Given the description of an element on the screen output the (x, y) to click on. 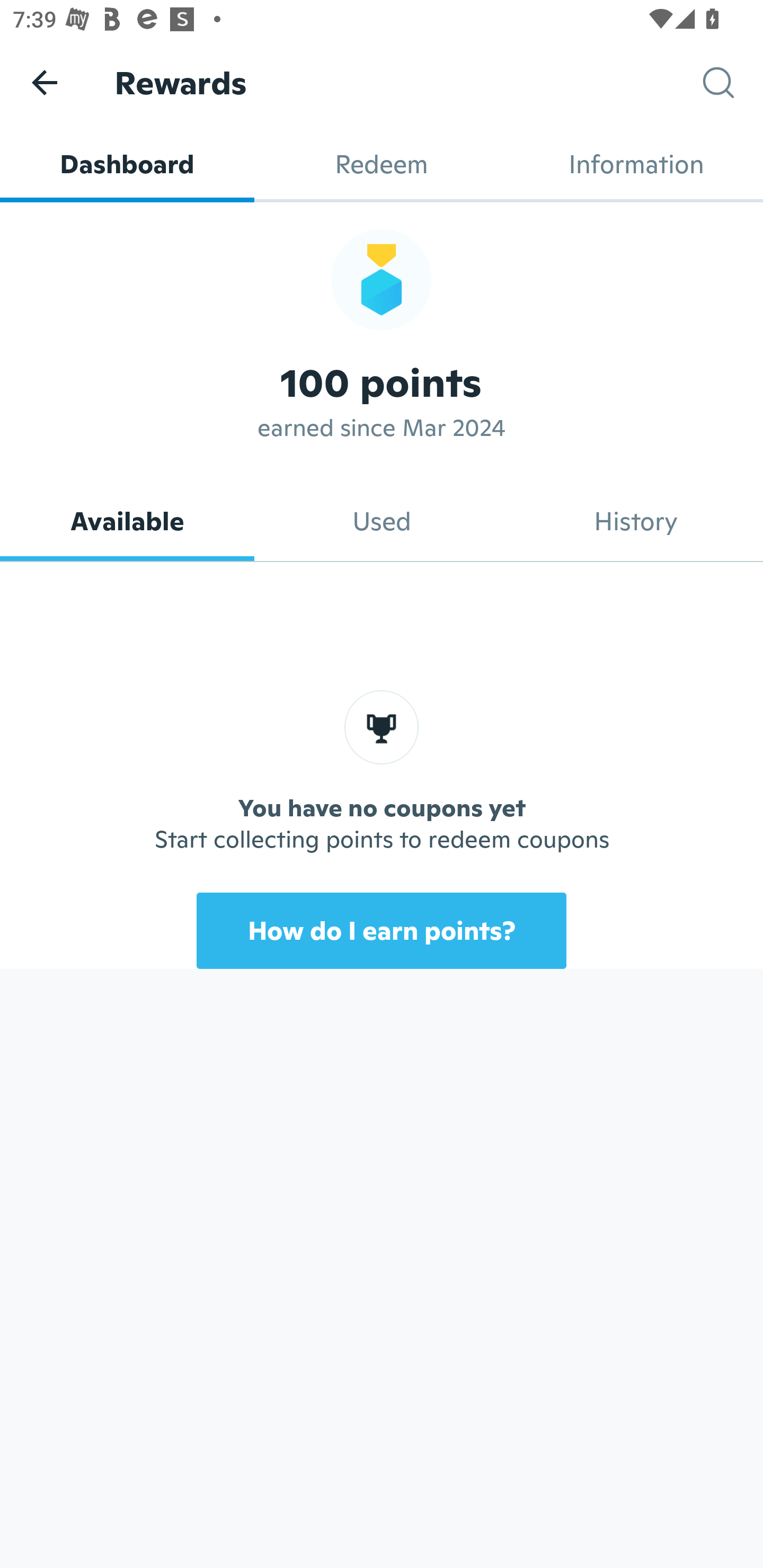
Navigate up (44, 82)
Search (732, 82)
Dashboard (127, 164)
Redeem (381, 164)
Information (635, 164)
Available (127, 520)
Used (381, 520)
History (635, 520)
How do I earn points? (381, 930)
